Given the description of an element on the screen output the (x, y) to click on. 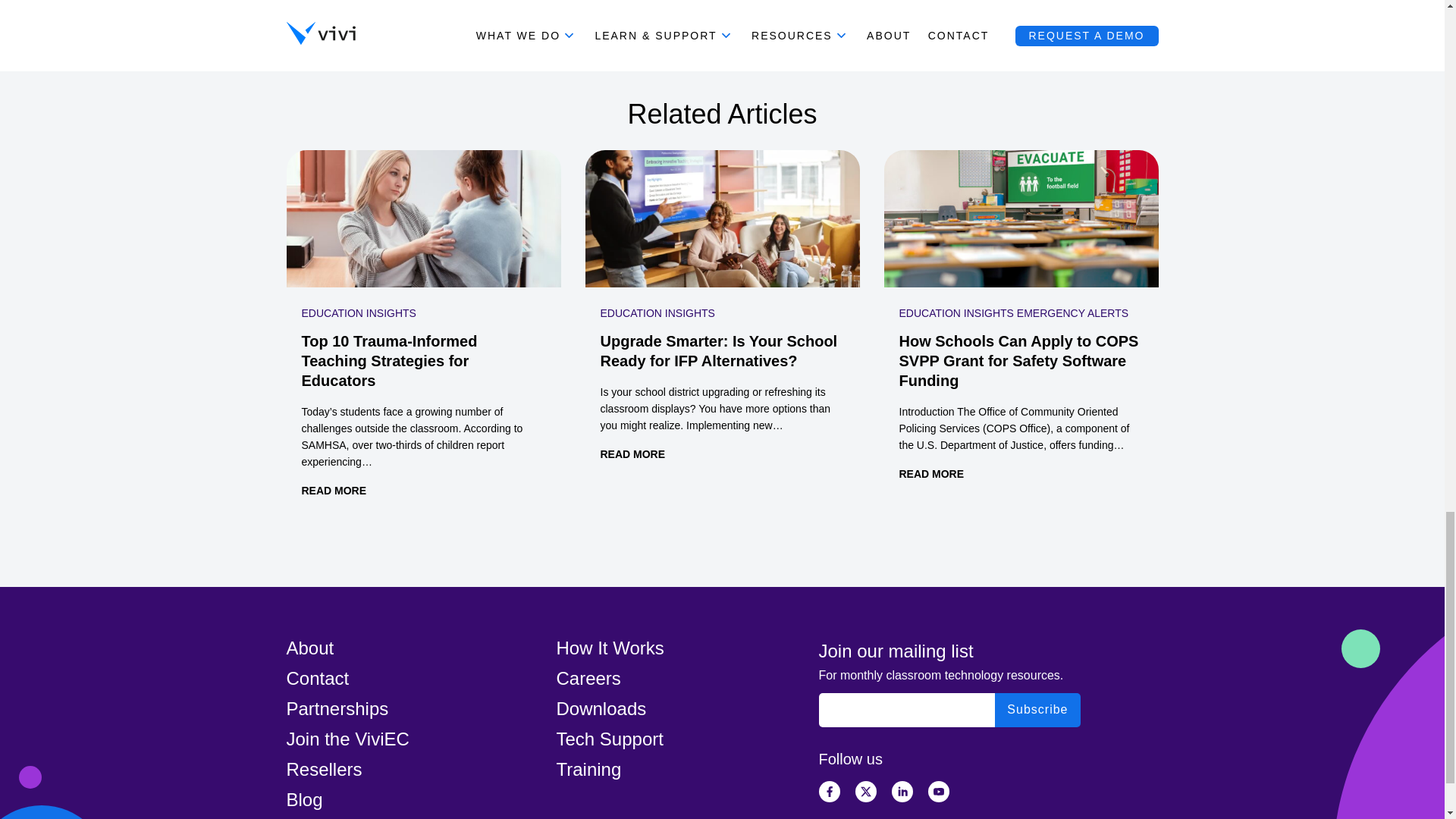
About (310, 648)
Contact (317, 678)
Partnerships (337, 708)
Tech Support (609, 738)
Join the ViviEC (347, 738)
Subscribe (1037, 709)
Subscribe (1037, 709)
Careers (588, 678)
Downloads (601, 708)
Resellers (324, 769)
Training (588, 769)
Blog (304, 799)
How It Works (609, 648)
